Given the description of an element on the screen output the (x, y) to click on. 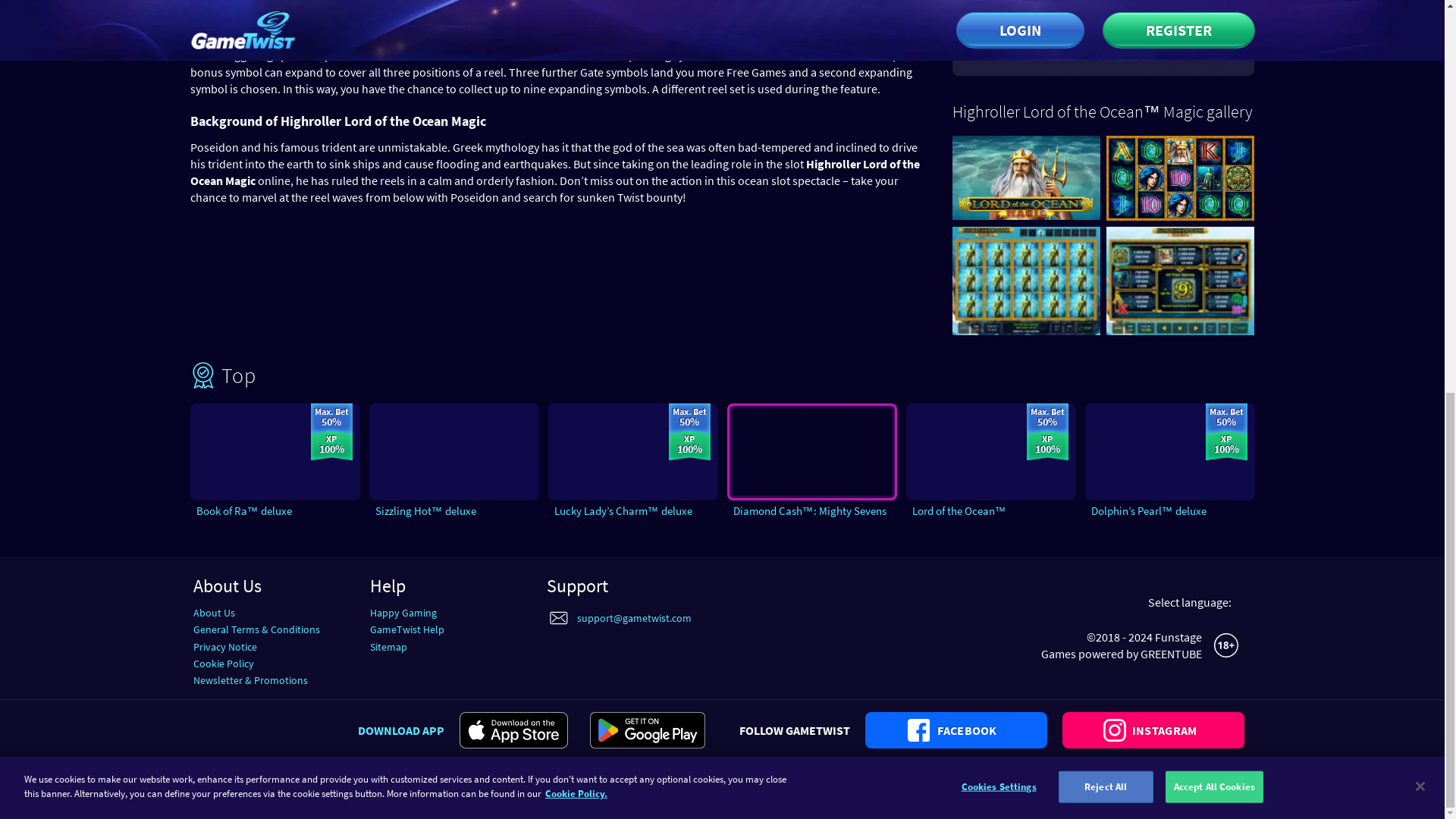
GameTwist Help (406, 629)
FACEBOOK (955, 729)
Happy Gaming (402, 612)
Sitemap (388, 646)
Privacy Notice (224, 646)
About Us (213, 612)
Cookie Policy (222, 663)
INSTAGRAM (1153, 729)
Cookie Policy. (575, 39)
DOWNLOAD APP (401, 729)
